Given the description of an element on the screen output the (x, y) to click on. 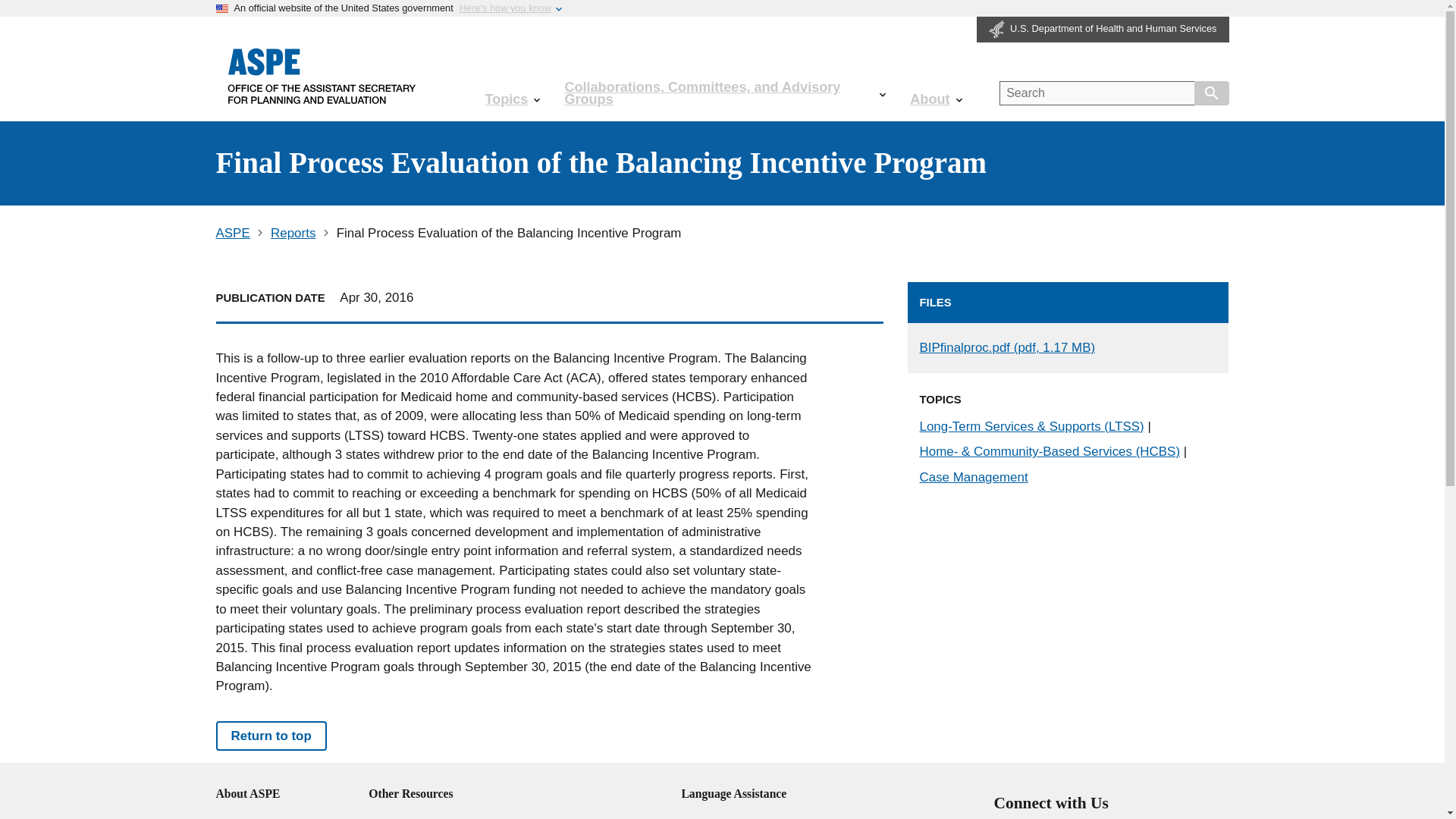
ASPE Home (321, 75)
Topics (511, 99)
About (936, 99)
Return to top (270, 736)
ASPE (231, 233)
Reports (292, 233)
Saturday, April 30, 2016 (376, 297)
U.S. Department of Health and Human Services (1102, 29)
Case Management (972, 477)
Collaborations, Committees, and Advisory Groups (724, 92)
